Given the description of an element on the screen output the (x, y) to click on. 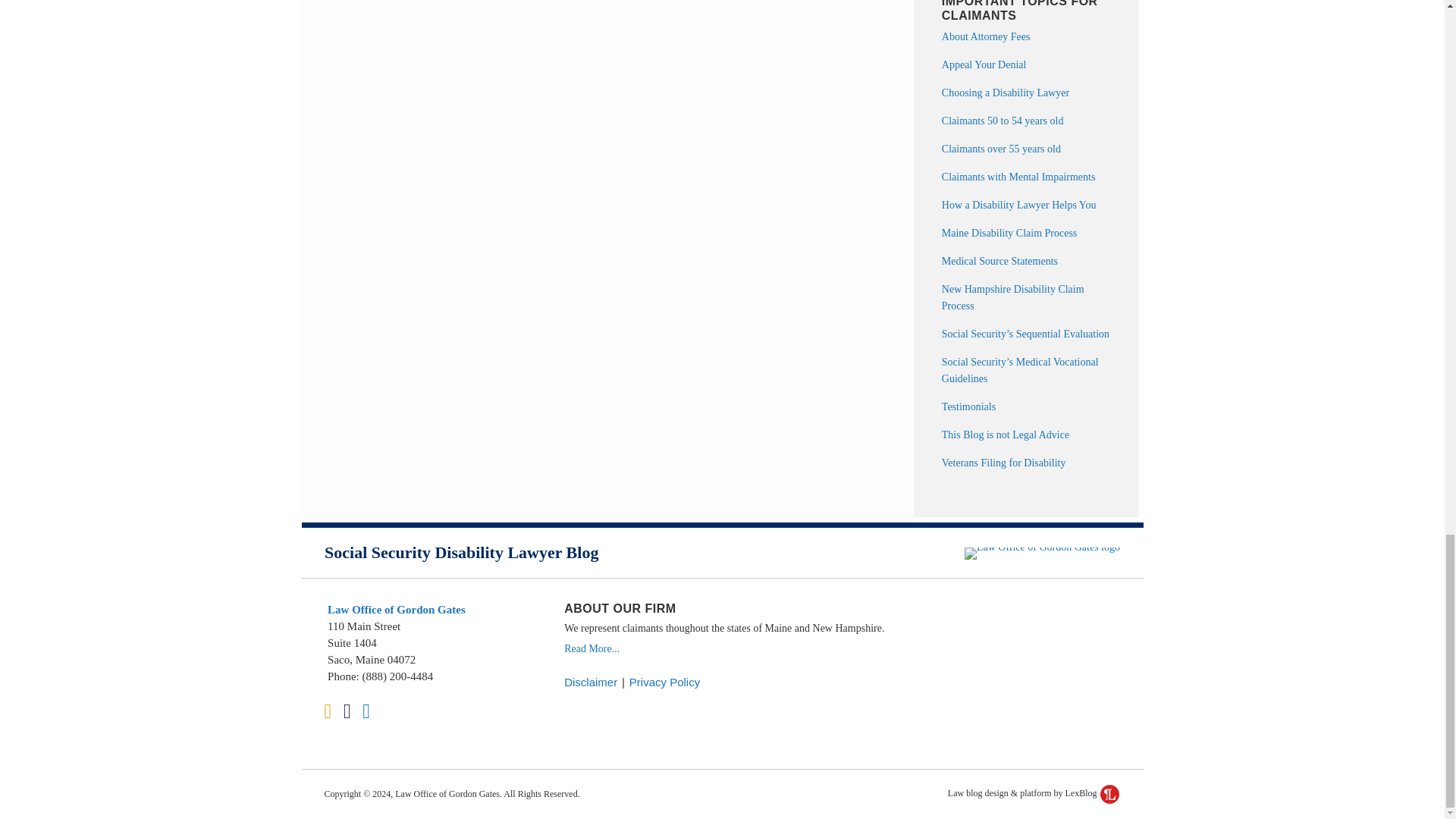
About Attorney Fees (986, 36)
Maine Disability Claim Process (1009, 233)
Claimants with Mental Impairments (1019, 176)
Social Security Disability Lawyer Blog (461, 551)
Choosing a Disability Lawyer (1005, 92)
Medical Source Statements (1000, 260)
How a Disability Lawyer Helps You (1019, 204)
Claimants over 55 years old (1001, 148)
LexBlog Logo (1109, 793)
Appeal Your Denial (984, 64)
